Given the description of an element on the screen output the (x, y) to click on. 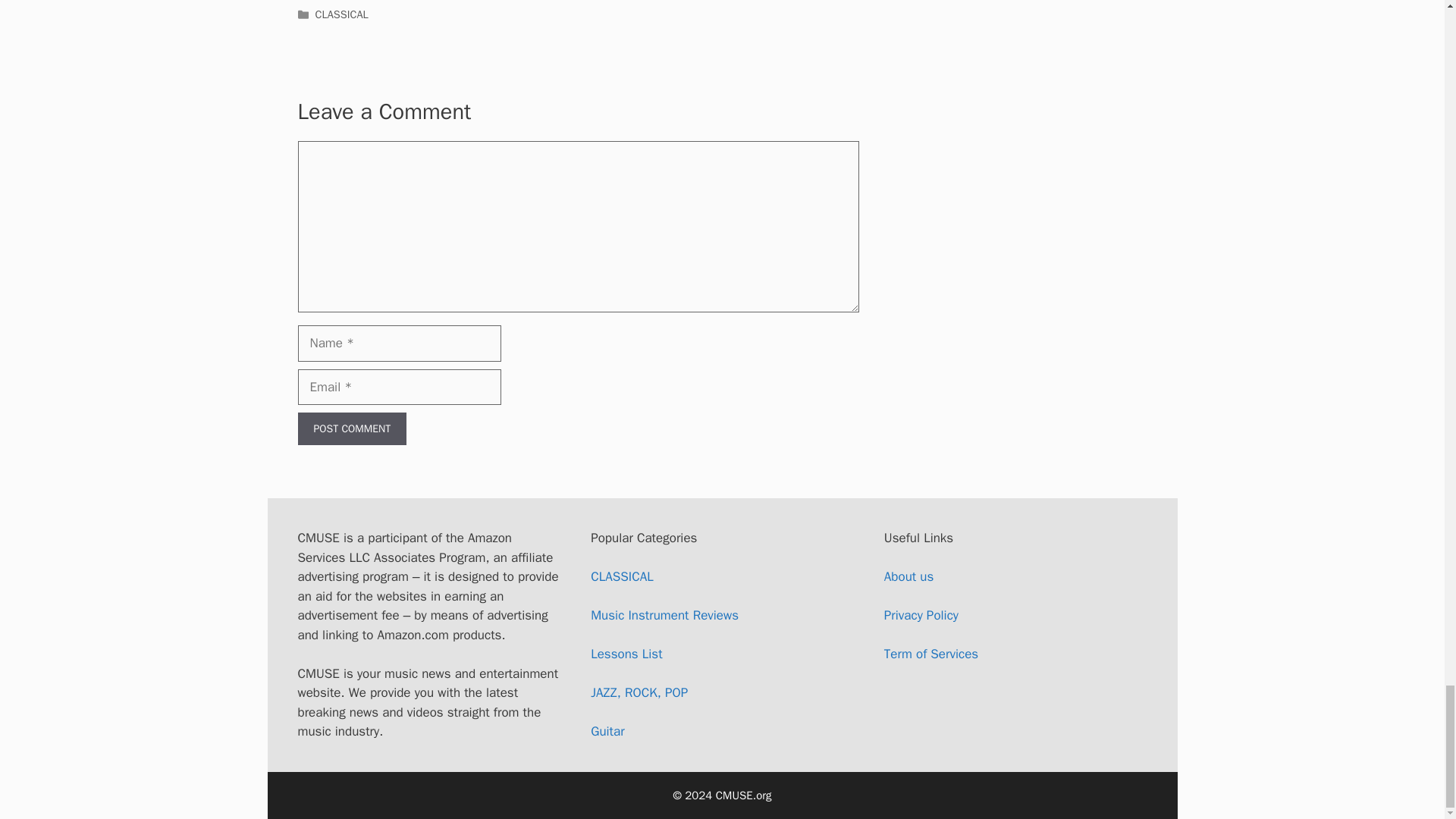
JAZZ, ROCK, POP (639, 692)
Term of Services (930, 653)
CLASSICAL (341, 14)
Privacy Policy (920, 615)
Guitar (607, 731)
CLASSICAL (622, 576)
Music Instrument Reviews (664, 615)
Post Comment (351, 428)
About us (908, 576)
Post Comment (351, 428)
Lessons List (626, 653)
